Given the description of an element on the screen output the (x, y) to click on. 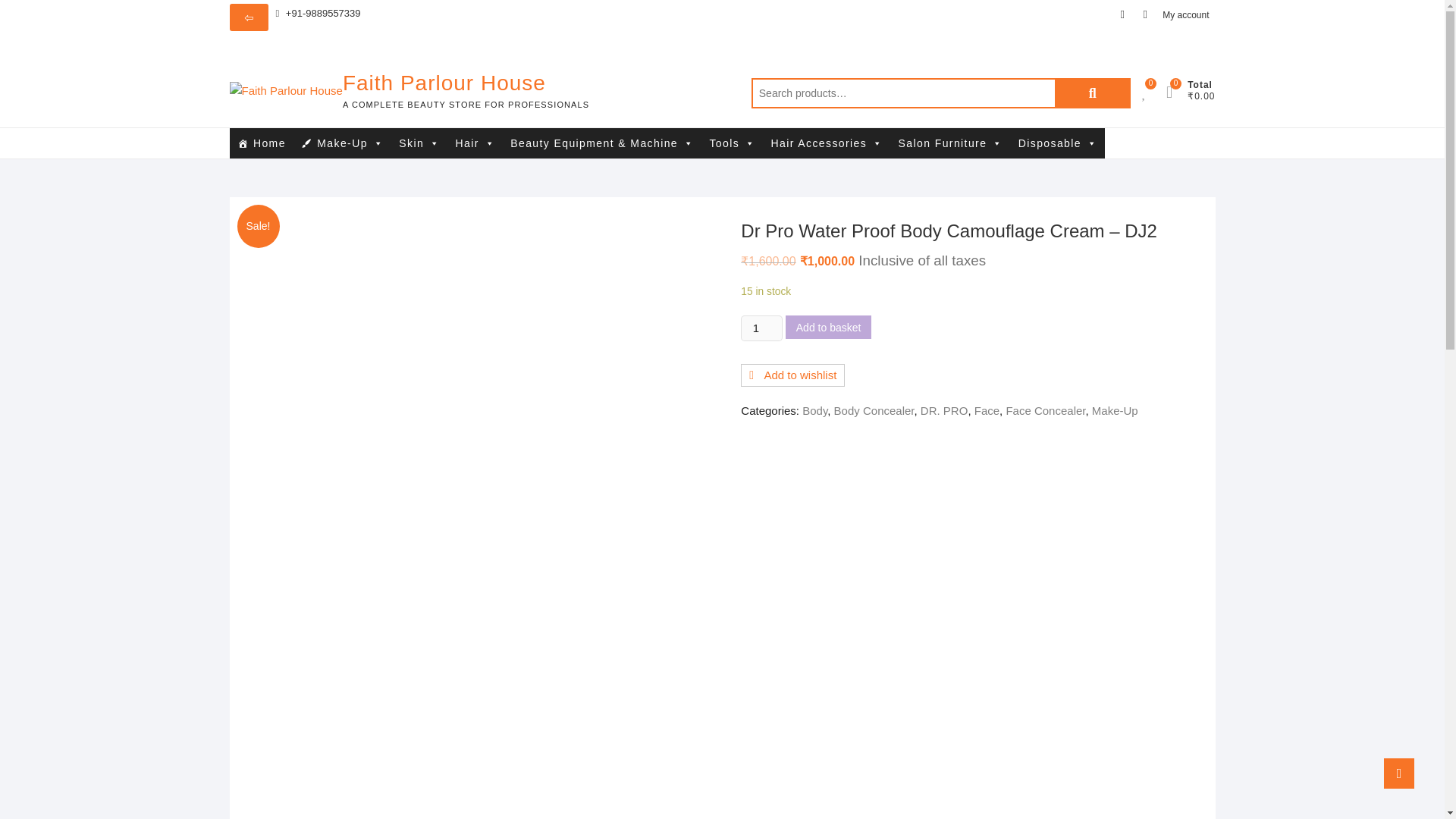
0 (1151, 92)
Instagram (1145, 14)
Make-Up (342, 142)
Facebook (1122, 14)
Faith Parlour House (465, 82)
My account (1185, 15)
Faith Parlour House (465, 82)
Call Us (318, 13)
Search (1092, 92)
0 (1177, 92)
1 (761, 328)
Home (260, 142)
